Given the description of an element on the screen output the (x, y) to click on. 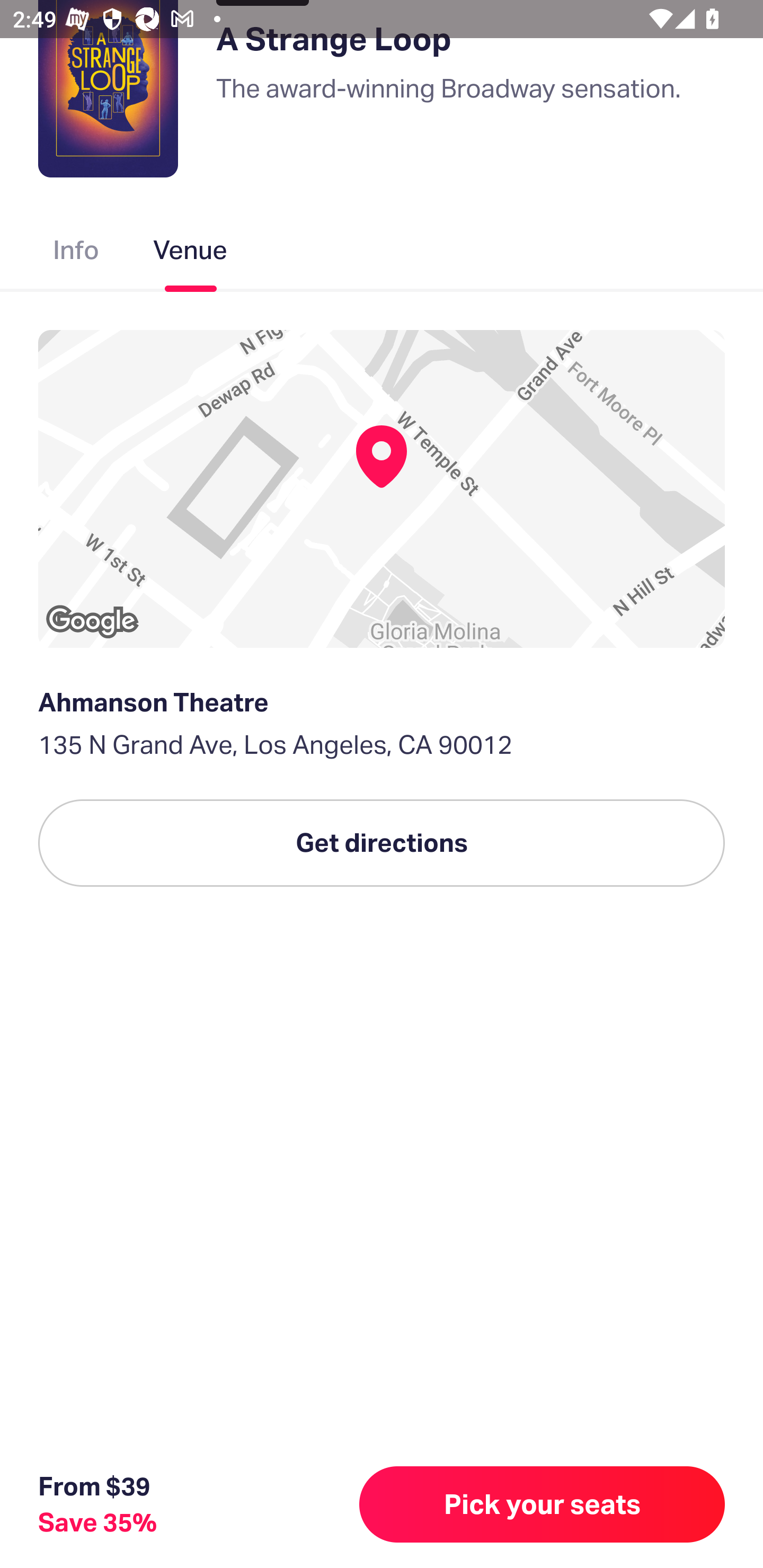
Info (76, 253)
Google Map Ahmanson Theatre.  (381, 488)
Get directions (381, 843)
Pick your seats (541, 1504)
